Given the description of an element on the screen output the (x, y) to click on. 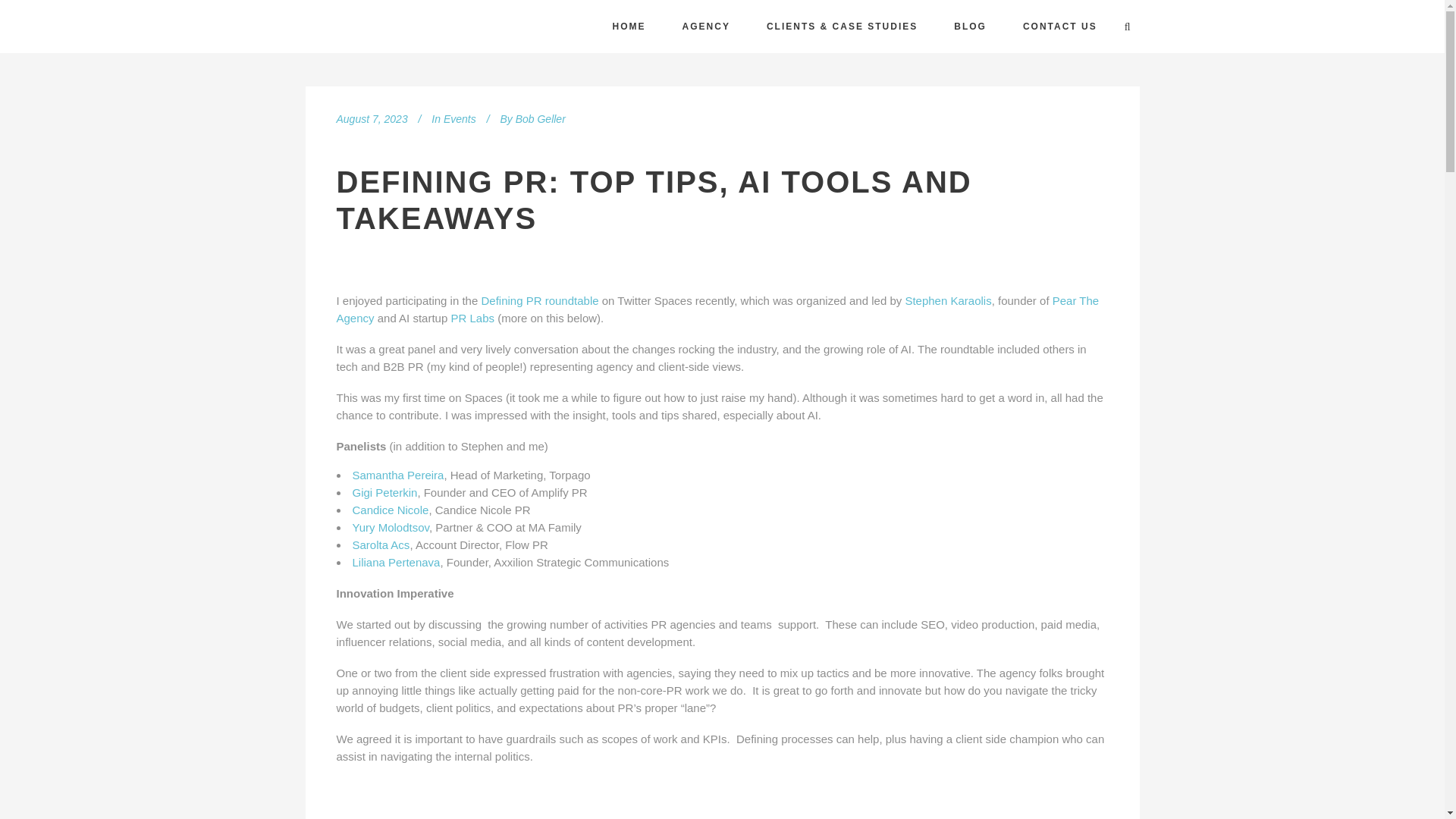
Liliana Pertenava (395, 562)
BLOG (970, 26)
PR Labs (472, 318)
Stephen Karaolis (947, 300)
Pear The Agency (717, 309)
AGENCY (705, 26)
Samantha Pereira (398, 474)
Sarolta Acs (380, 544)
Gigi Peterkin (384, 492)
Events (460, 119)
Bob Geller (540, 119)
HOME (628, 26)
Yury Molodtsov (390, 526)
CONTACT US (1059, 26)
Defining PR roundtable (539, 300)
